Given the description of an element on the screen output the (x, y) to click on. 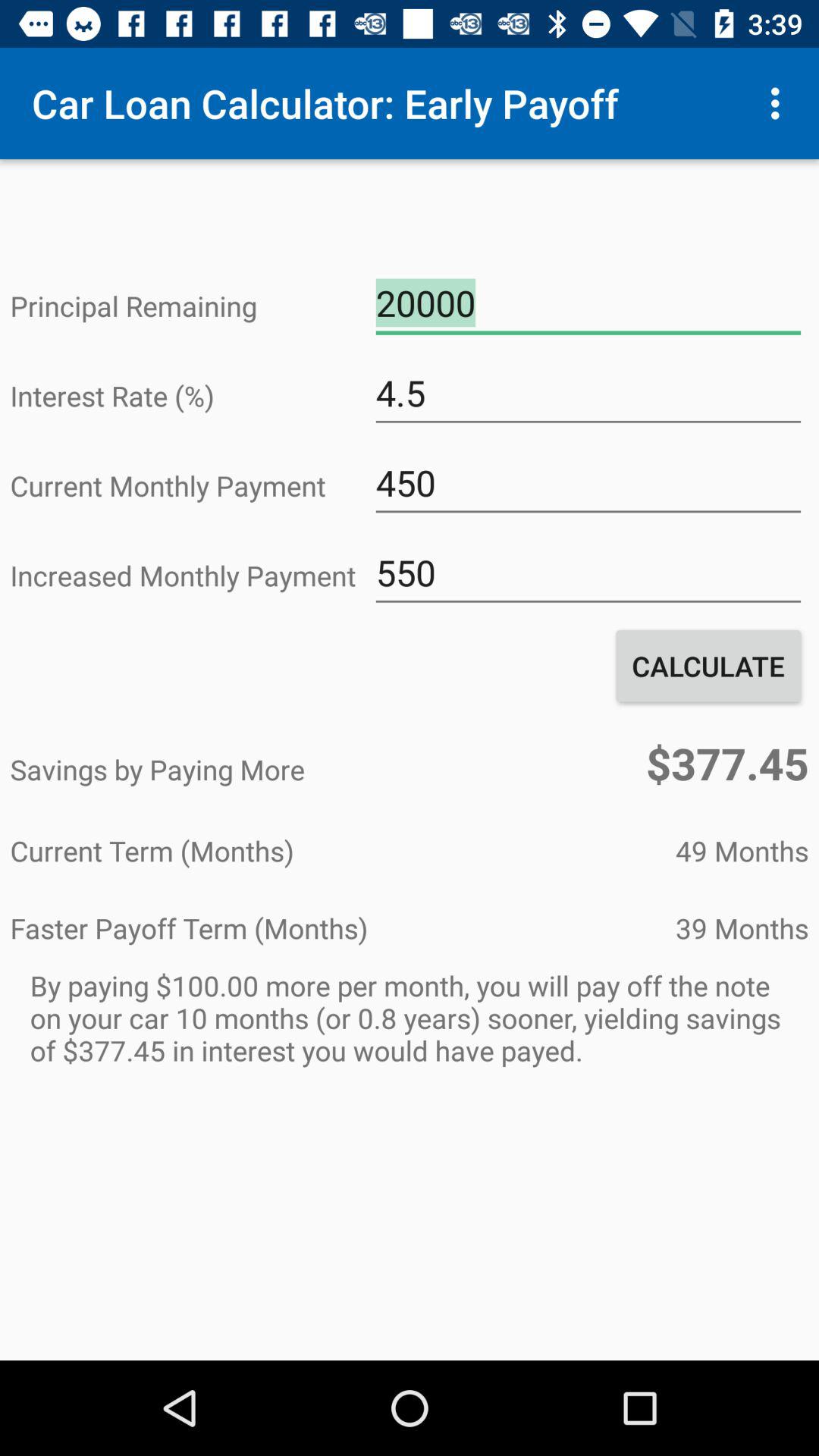
open the icon next to current monthly payment item (587, 483)
